Given the description of an element on the screen output the (x, y) to click on. 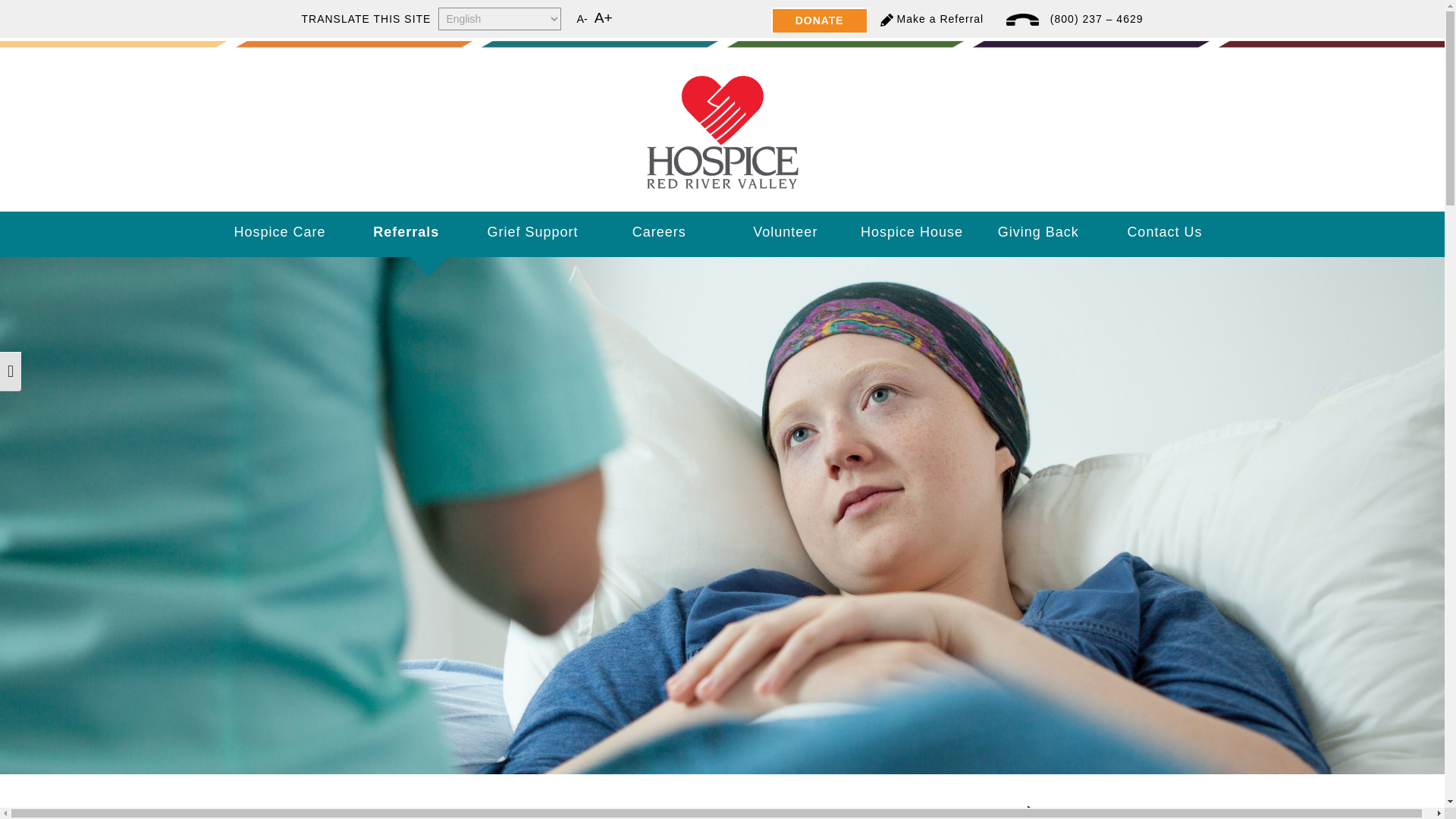
Volunteer (785, 232)
DONATE (819, 20)
Careers (658, 232)
Make a Referral (940, 19)
Grief Support (531, 232)
A- (581, 19)
Toggle High Contrast (10, 371)
Hospice House (911, 232)
Hospice Care (279, 232)
Referrals (405, 232)
